Given the description of an element on the screen output the (x, y) to click on. 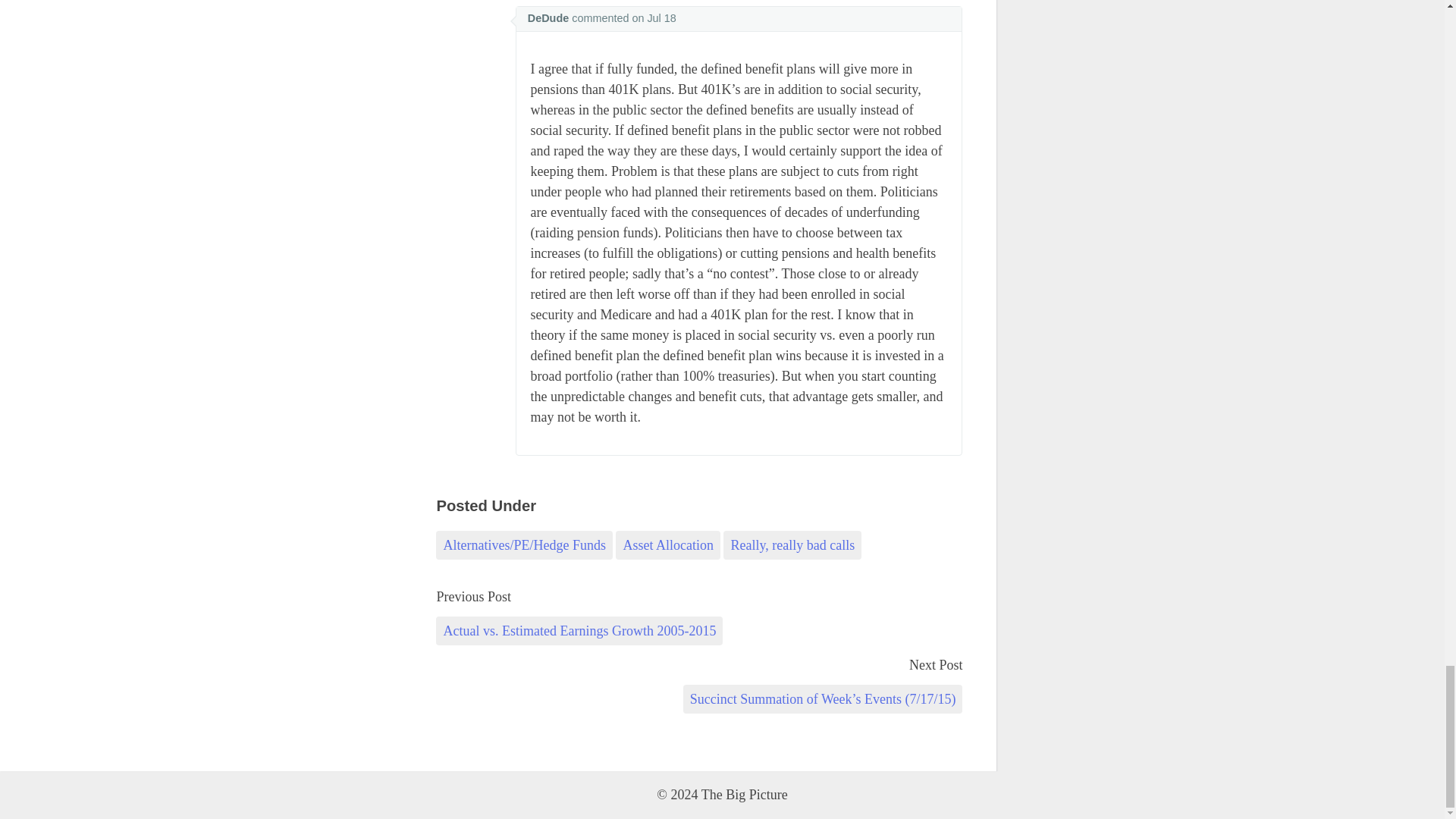
Asset Allocation (667, 544)
Actual vs. Estimated Earnings Growth 2005-2015 (578, 630)
Really, really bad calls (792, 544)
DeDude (548, 18)
